Given the description of an element on the screen output the (x, y) to click on. 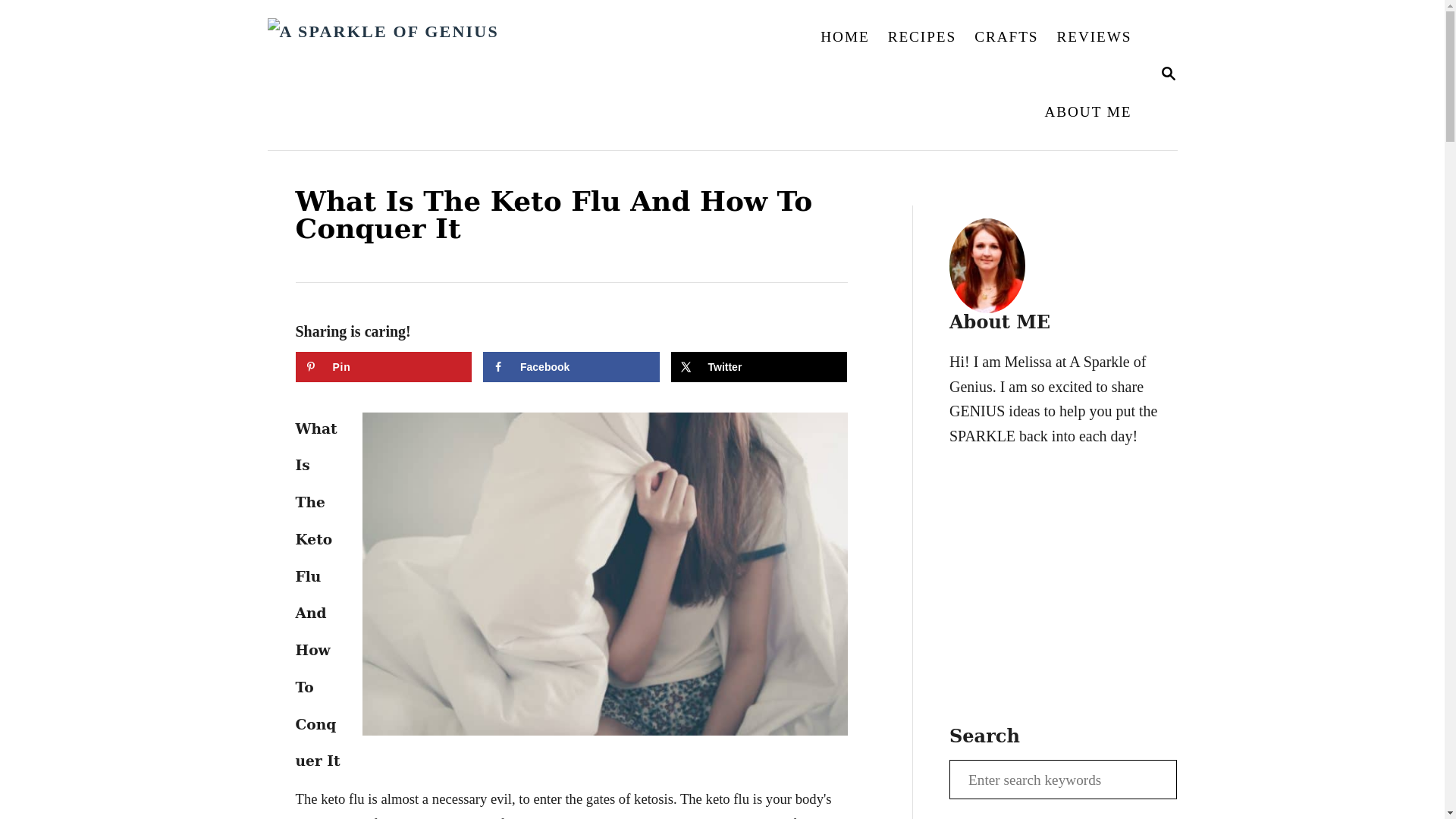
Search for: (1062, 779)
REVIEWS (1093, 36)
Twitter (758, 367)
A Sparkle of Genius (534, 74)
Save to Pinterest (383, 367)
Share on Facebook (571, 367)
ABOUT ME (1167, 75)
CRAFTS (1087, 112)
HOME (1005, 36)
RECIPES (843, 36)
Facebook (922, 36)
Pin (571, 367)
Share on X (383, 367)
